Given the description of an element on the screen output the (x, y) to click on. 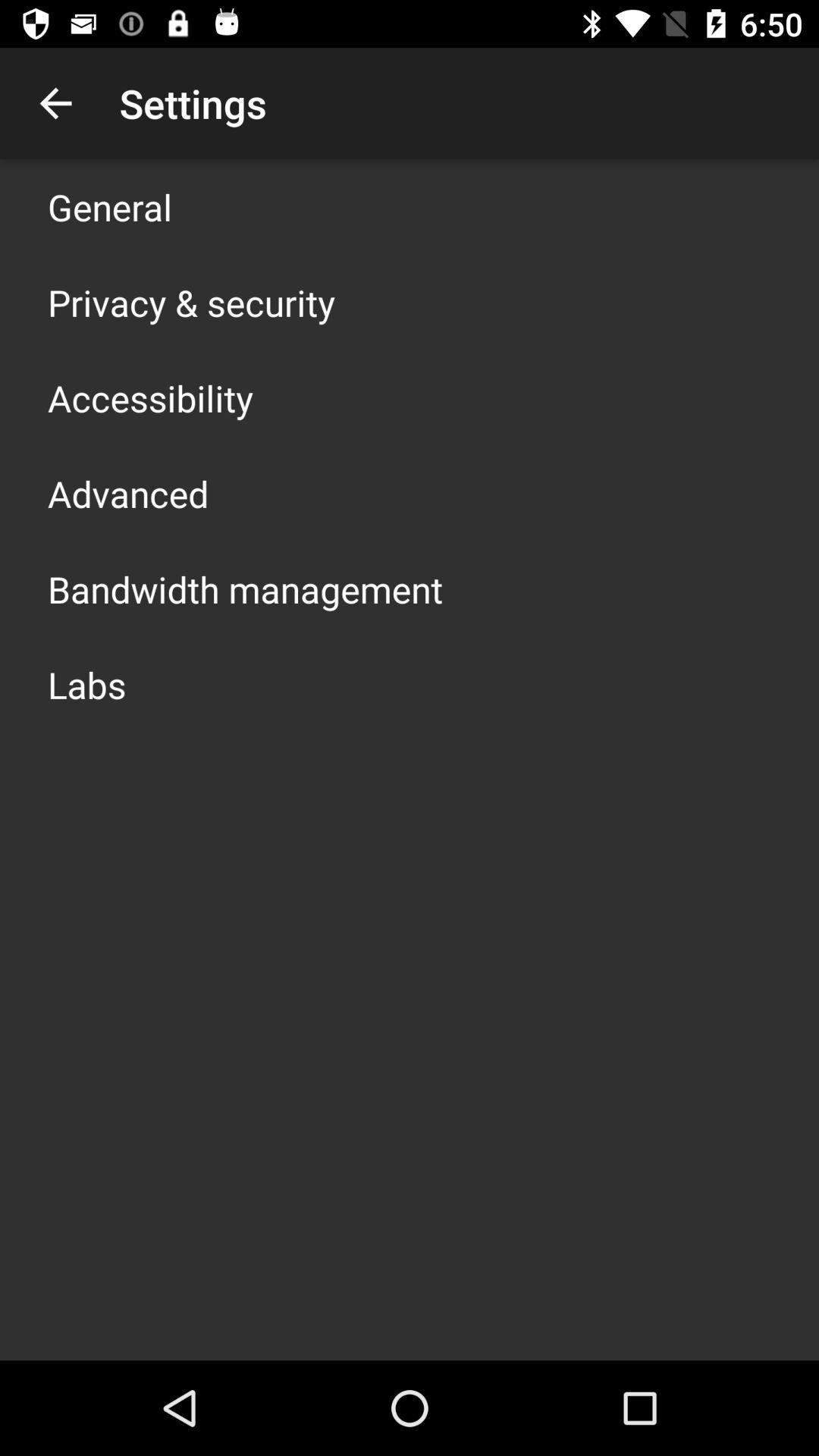
scroll to general icon (109, 206)
